Given the description of an element on the screen output the (x, y) to click on. 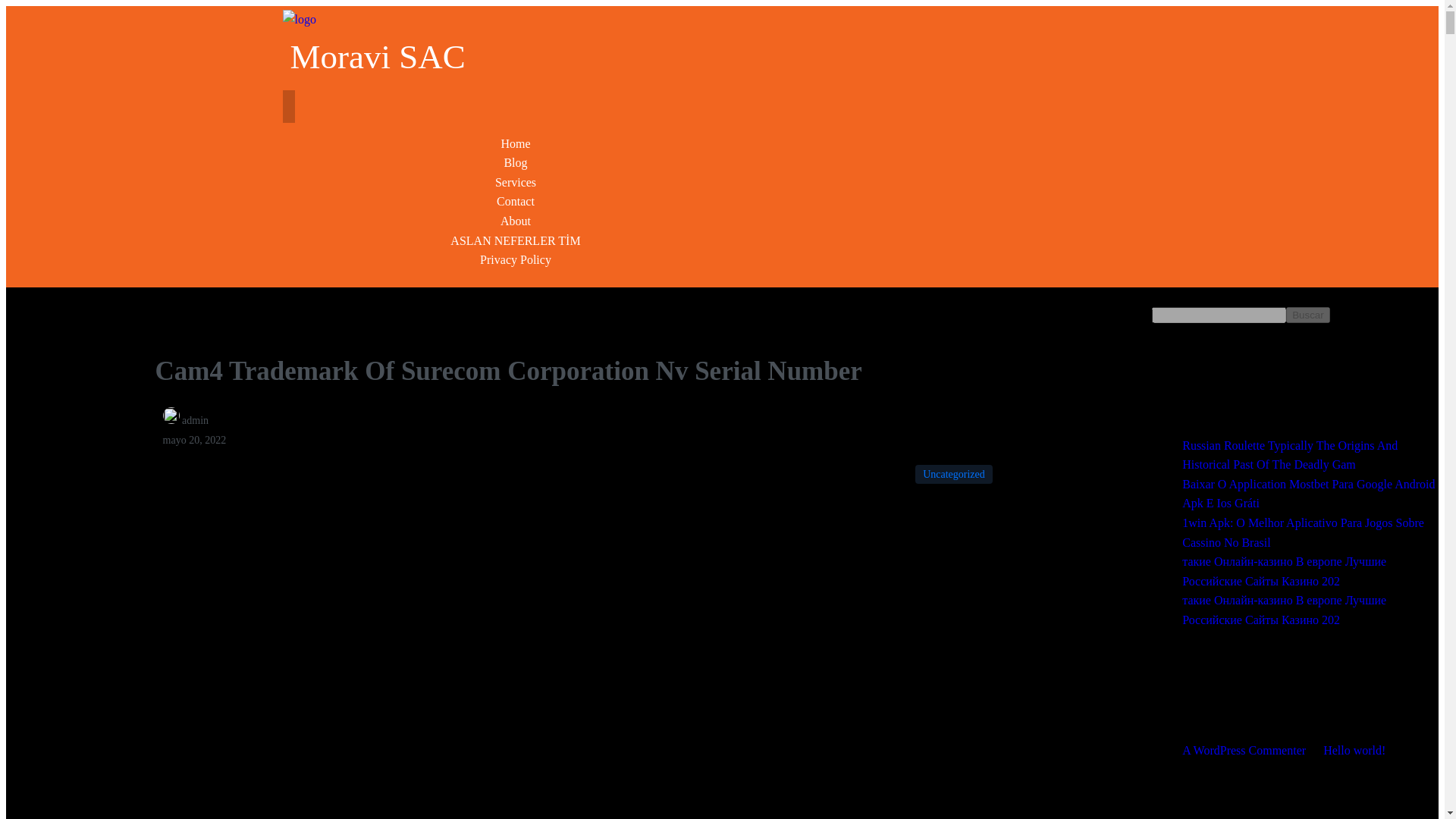
About (515, 221)
logo (298, 19)
Home (515, 143)
Moravi SAC (499, 48)
Blog (515, 162)
mayo 20, 2022 (195, 439)
admin (186, 419)
Contact (515, 201)
Hello world! (1354, 749)
